Given the description of an element on the screen output the (x, y) to click on. 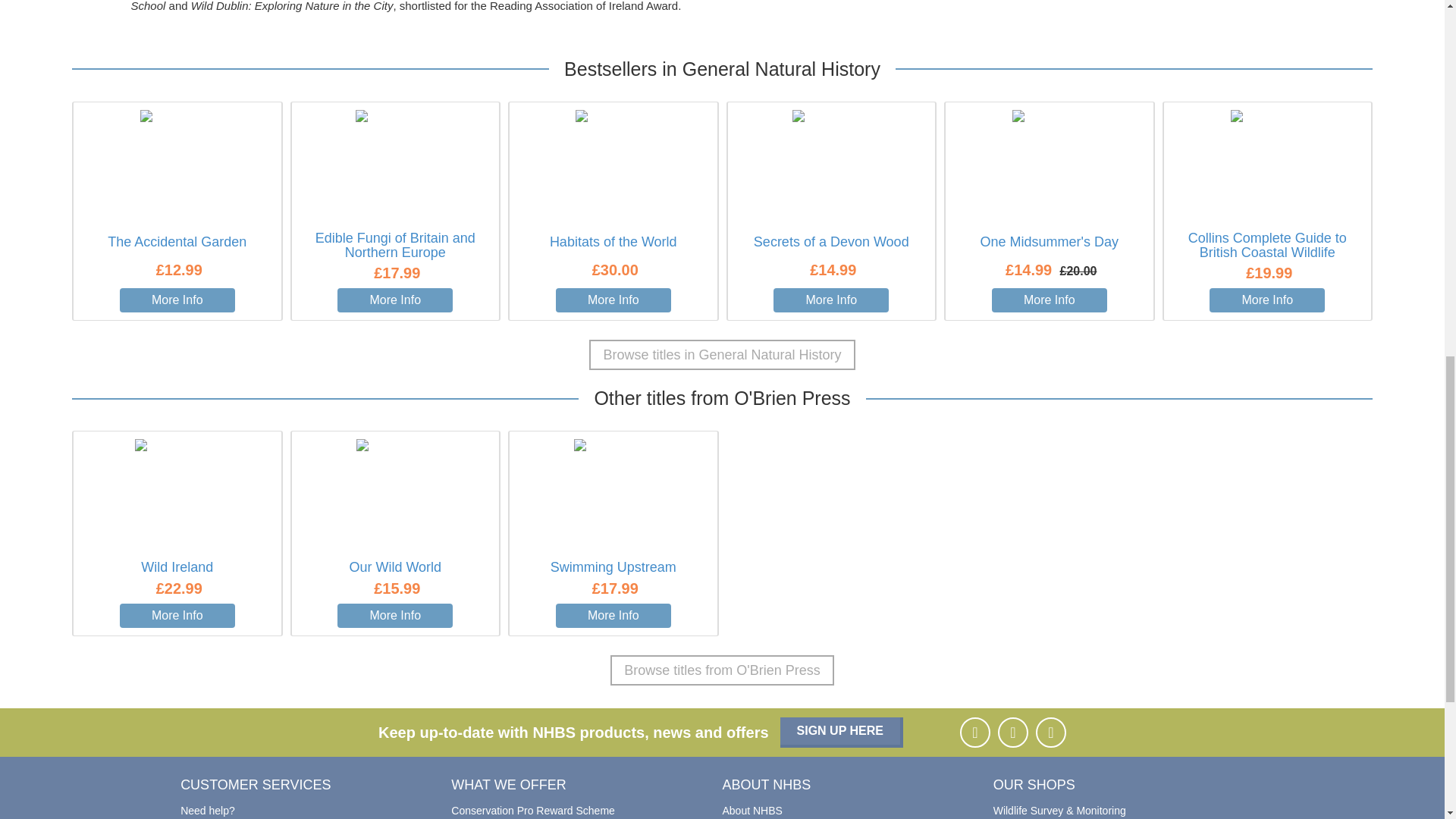
Follow us on Twitter (1050, 732)
Follow us on Instagram (1012, 732)
Follow us on Facebook (974, 732)
Sign up here (841, 732)
